Given the description of an element on the screen output the (x, y) to click on. 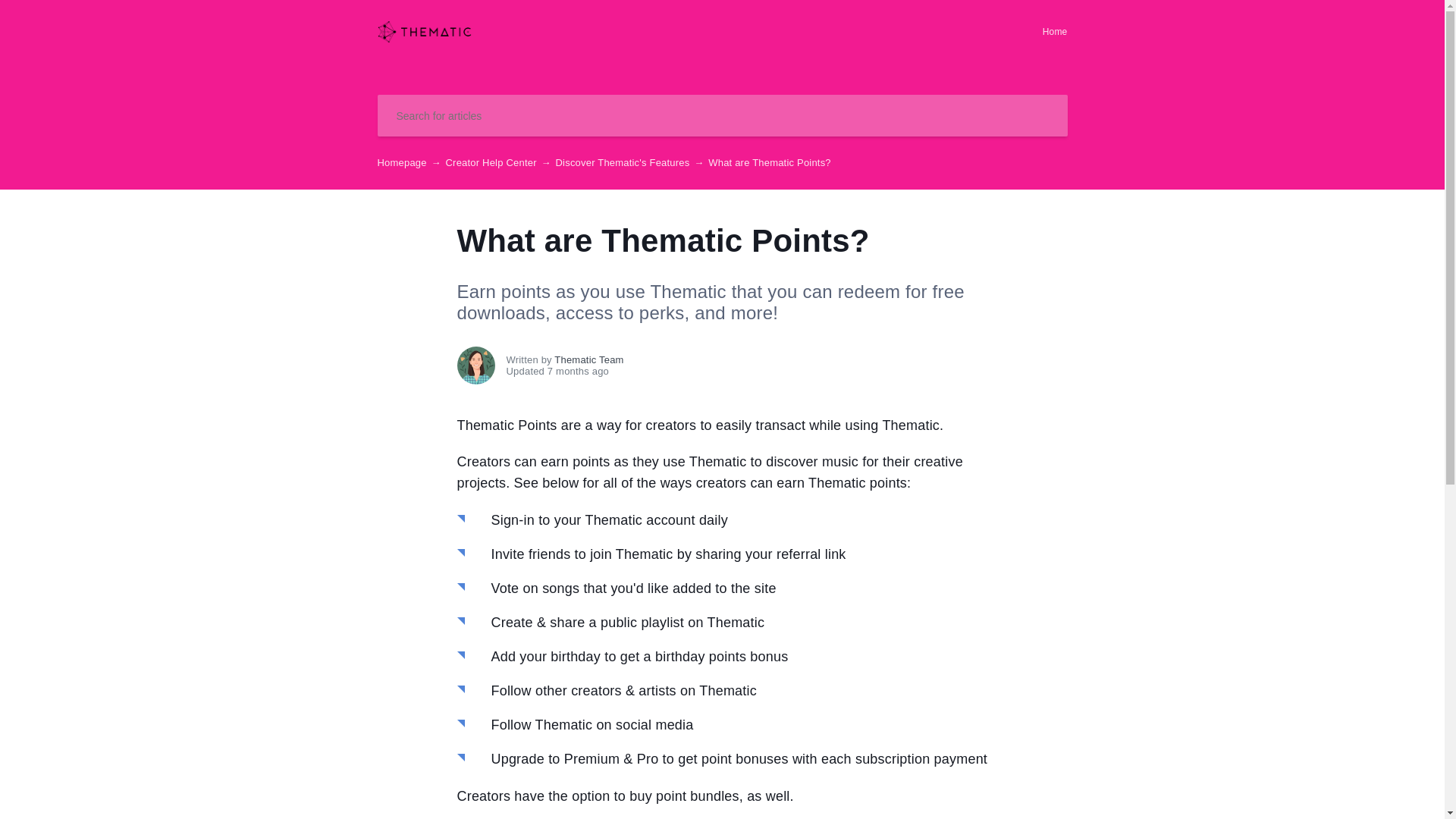
7 months ago (747, 370)
What are Thematic Points? (424, 38)
Home (1054, 31)
